Given the description of an element on the screen output the (x, y) to click on. 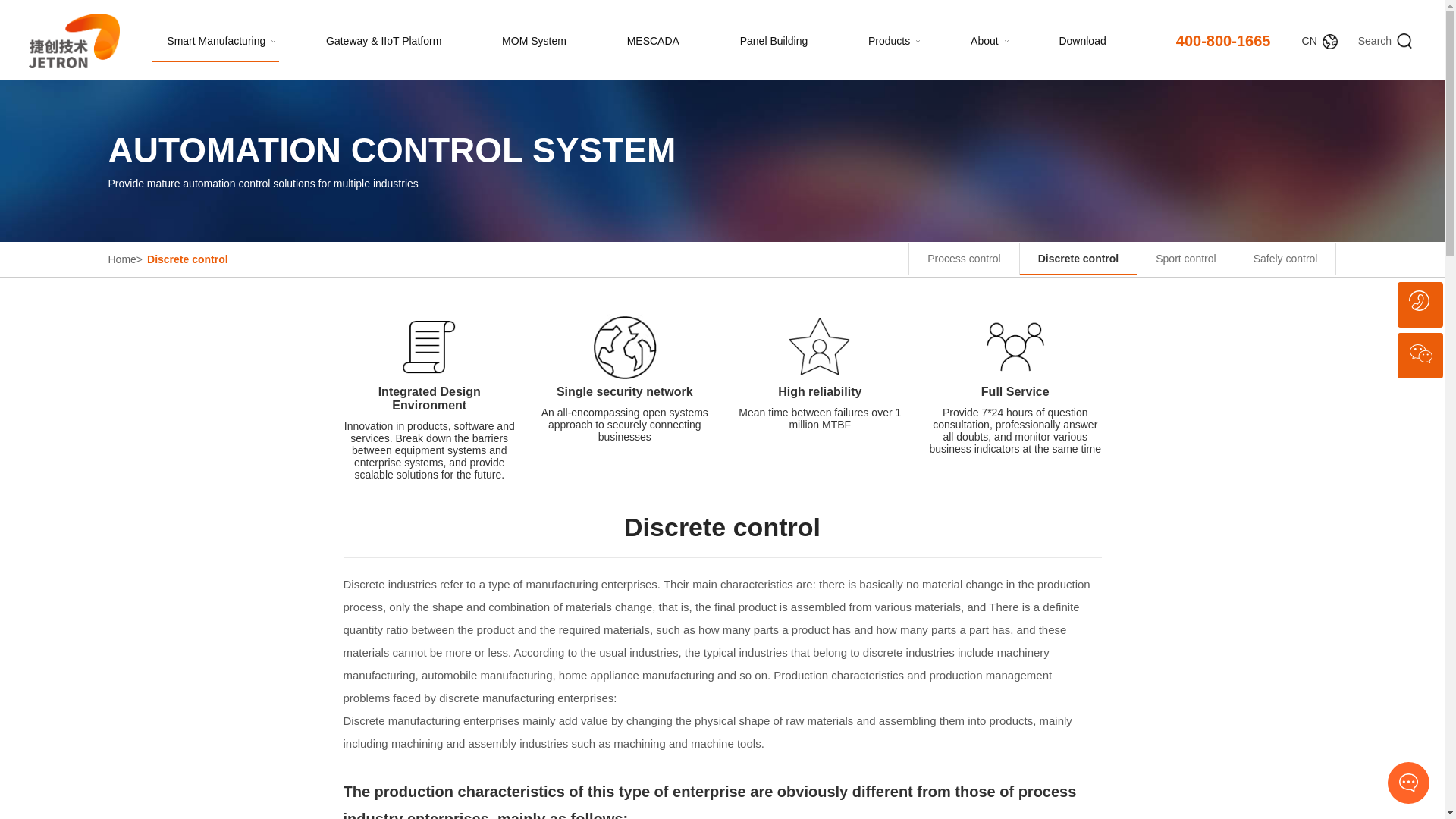
MOM System (534, 40)
MESCADA (653, 40)
JETRON (74, 40)
Smart Manufacturing (215, 40)
Products (888, 40)
Panel Building (773, 40)
